Given the description of an element on the screen output the (x, y) to click on. 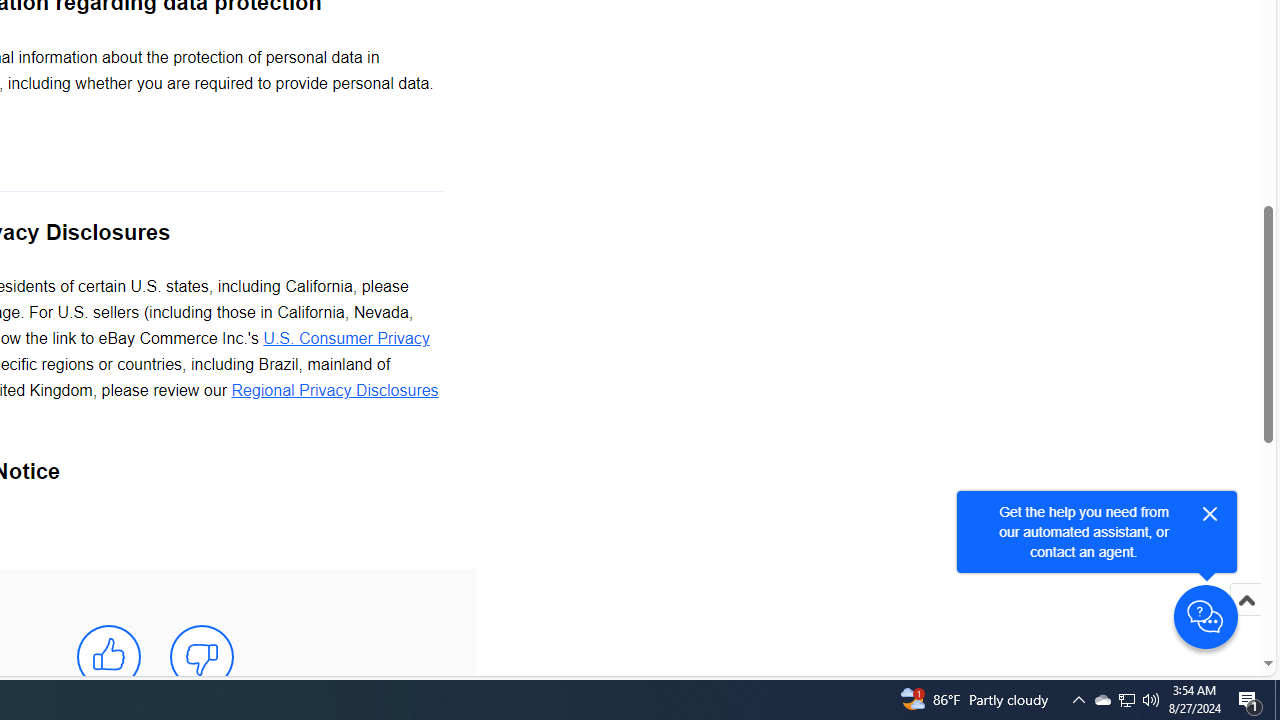
Scroll to top (1246, 620)
mark this article not helpful (201, 656)
Scroll to top (1246, 599)
mark this article helpful (108, 656)
Regional Privacy Disclosures - opens in new window or tab (334, 391)
